Given the description of an element on the screen output the (x, y) to click on. 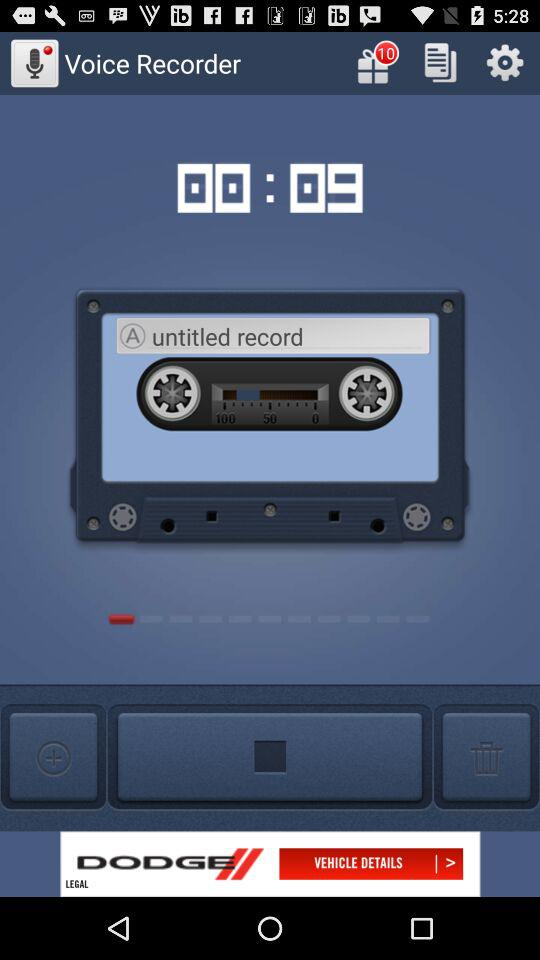
click here to delete (486, 757)
